Given the description of an element on the screen output the (x, y) to click on. 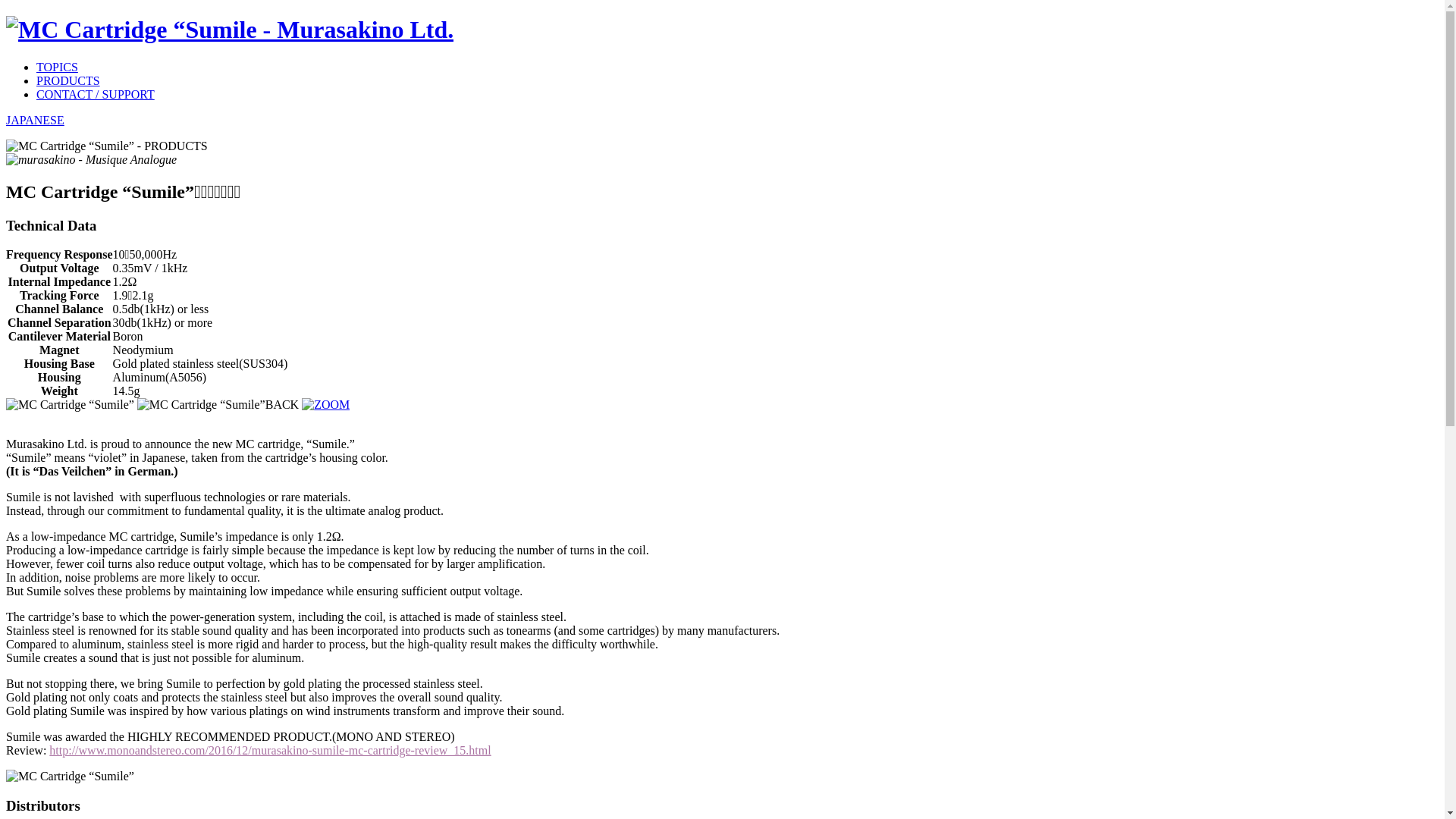
PRODUCTS Element type: text (68, 80)
TOPICS Element type: text (57, 66)
JAPANESE Element type: text (35, 119)
CONTACT / SUPPORT Element type: text (95, 93)
